Given the description of an element on the screen output the (x, y) to click on. 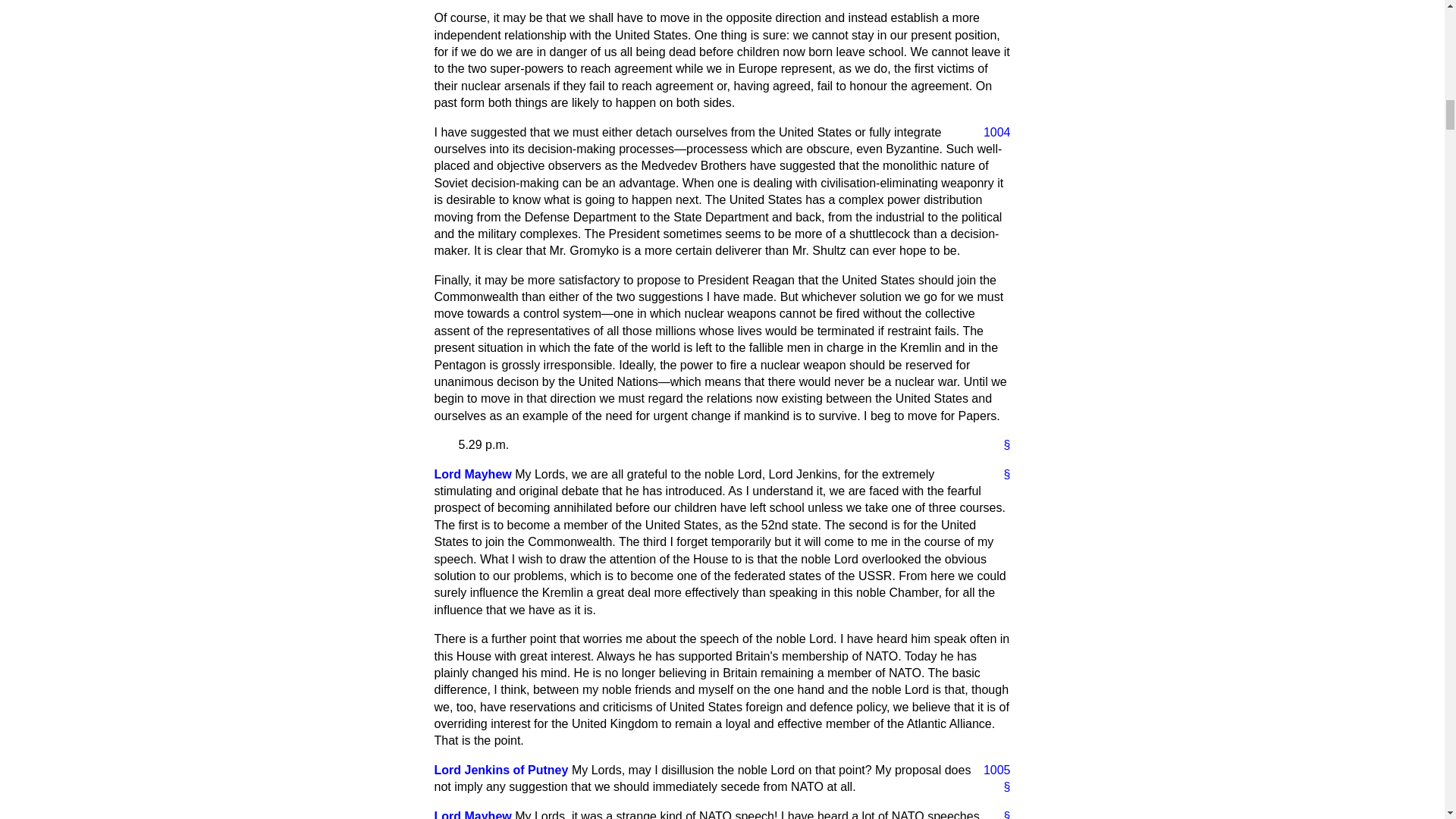
1004 (990, 132)
